Given the description of an element on the screen output the (x, y) to click on. 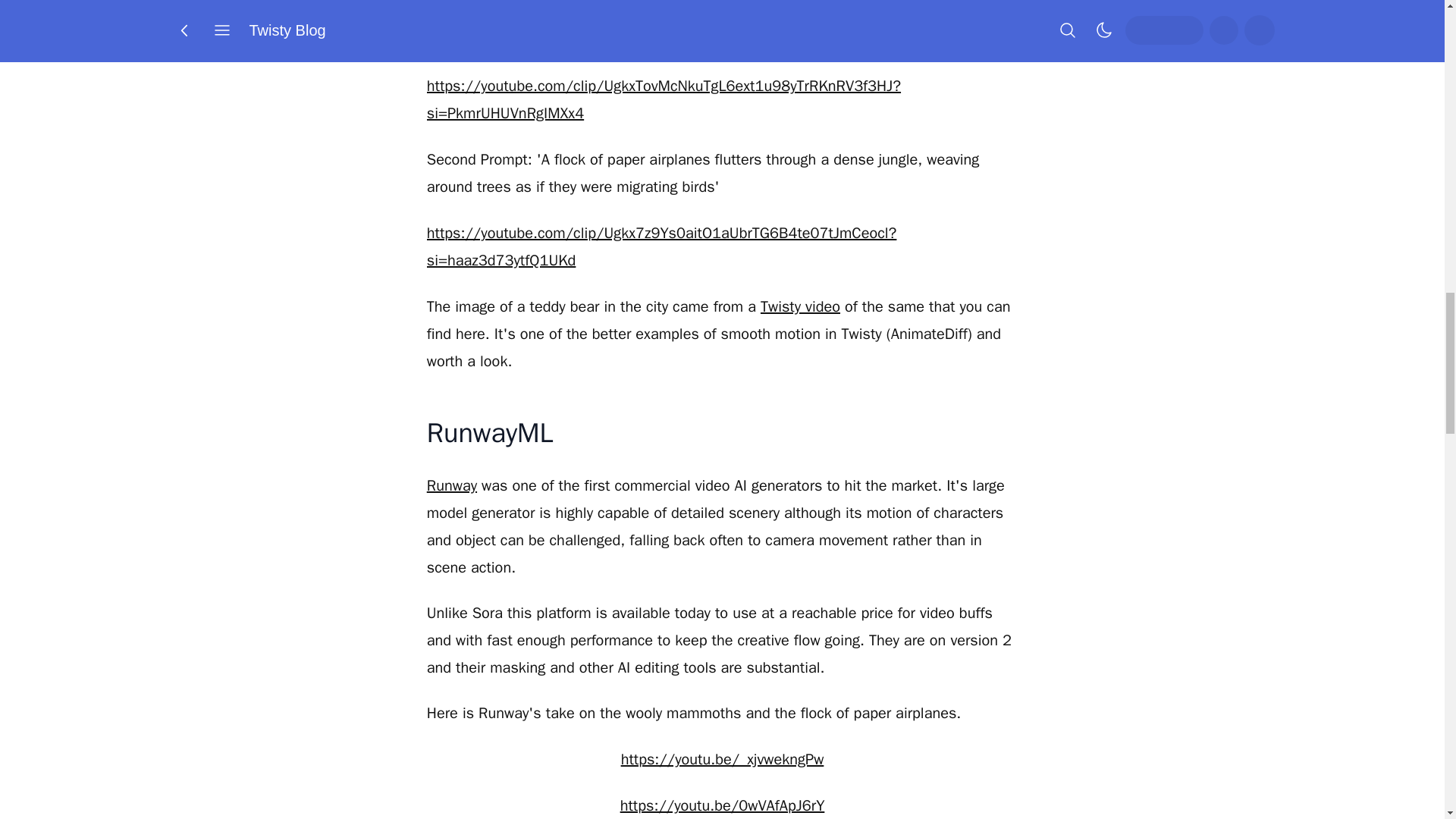
Twisty video (800, 306)
Runway (451, 485)
